Given the description of an element on the screen output the (x, y) to click on. 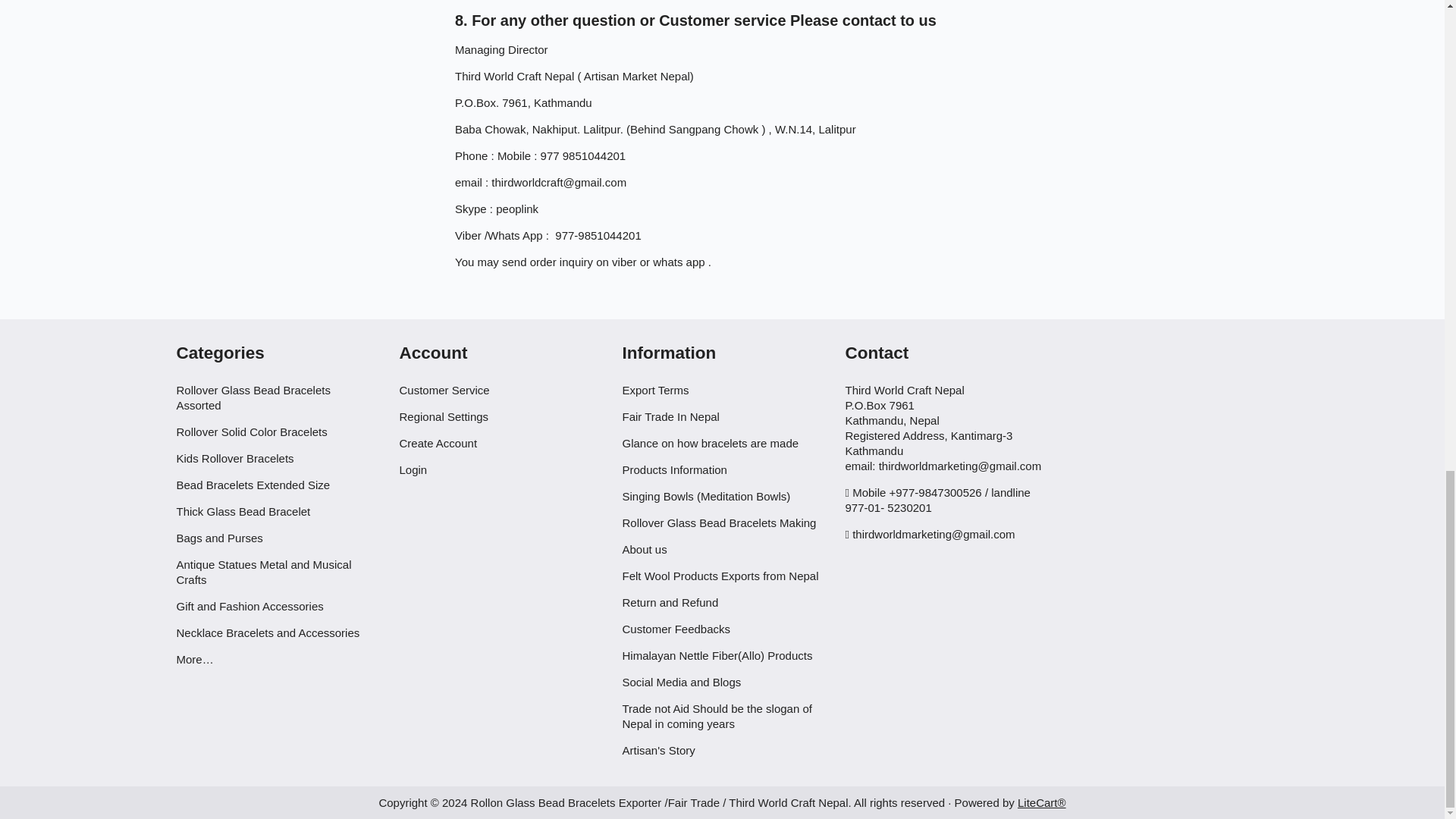
High performing e-commerce platform (1041, 802)
